Given the description of an element on the screen output the (x, y) to click on. 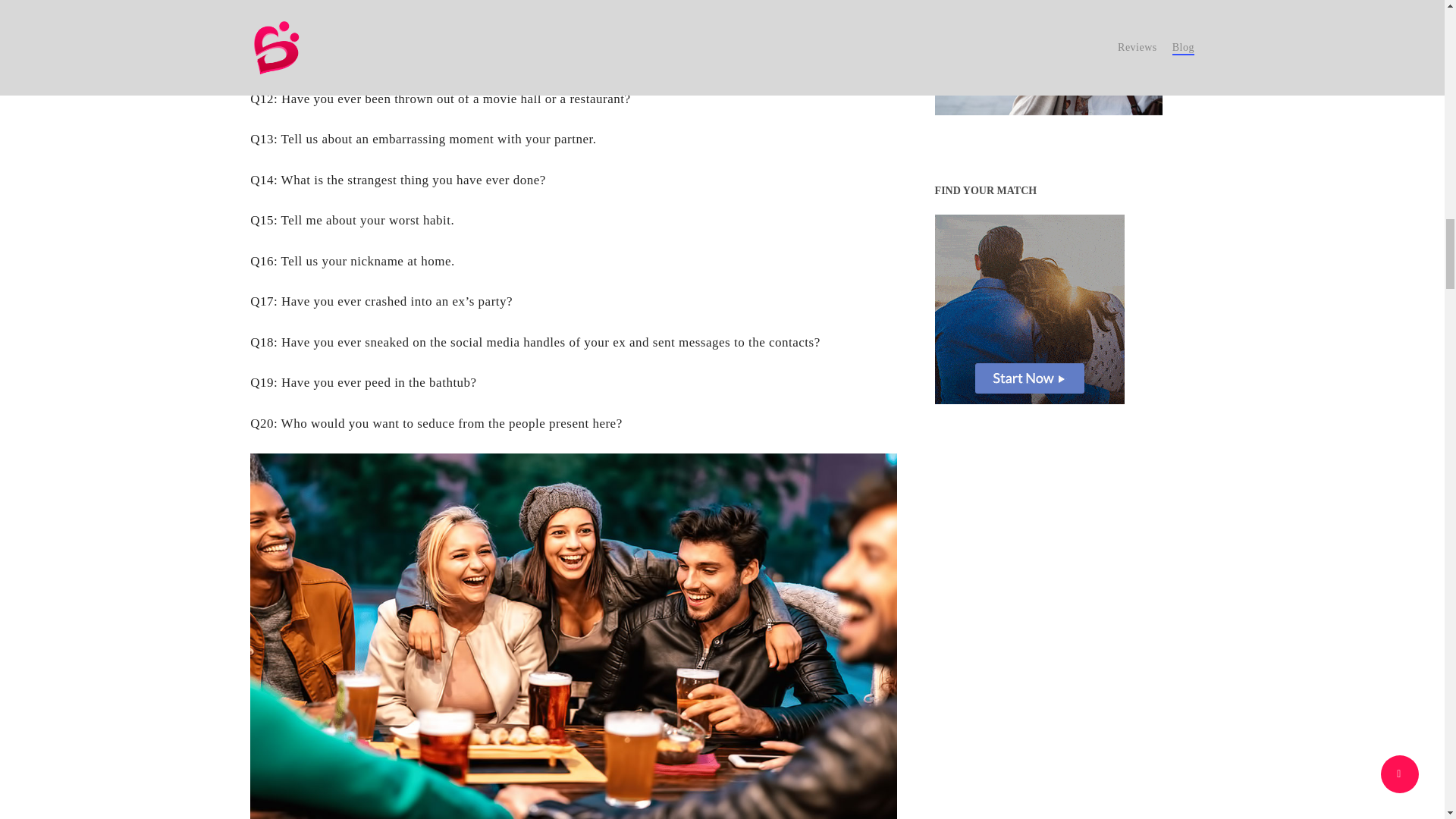
Christian Dating (1047, 57)
FIND YOUR MATCH (1029, 309)
